Given the description of an element on the screen output the (x, y) to click on. 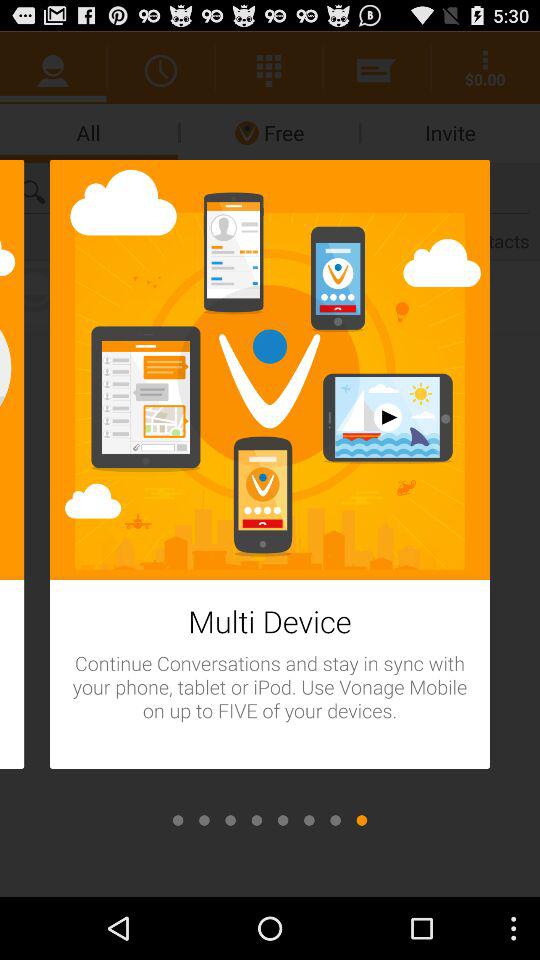
go back go previous (309, 820)
